Given the description of an element on the screen output the (x, y) to click on. 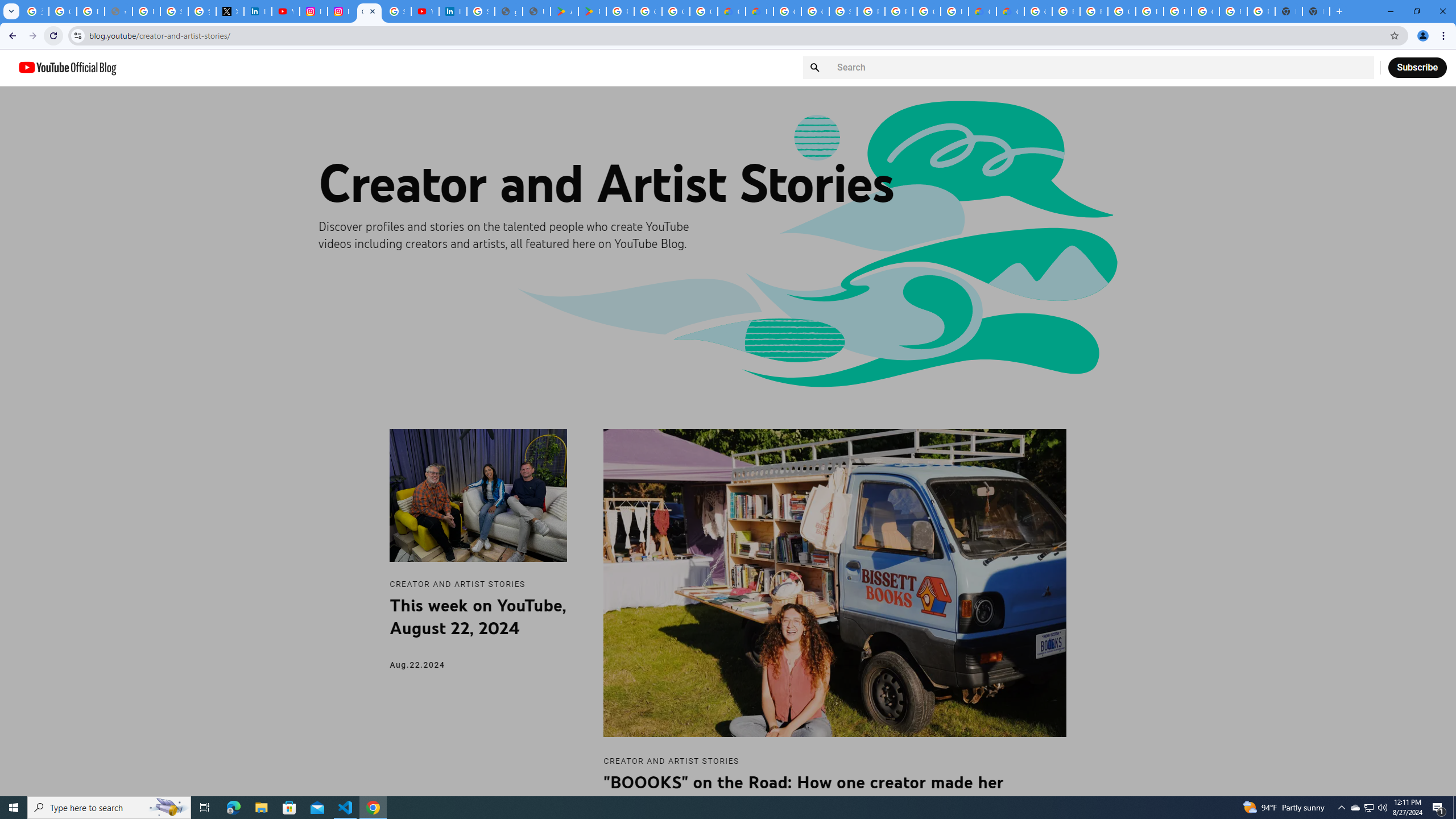
Google Cloud Platform (1121, 11)
Customer Care | Google Cloud (731, 11)
google_privacy_policy_en.pdf (508, 11)
